Given the description of an element on the screen output the (x, y) to click on. 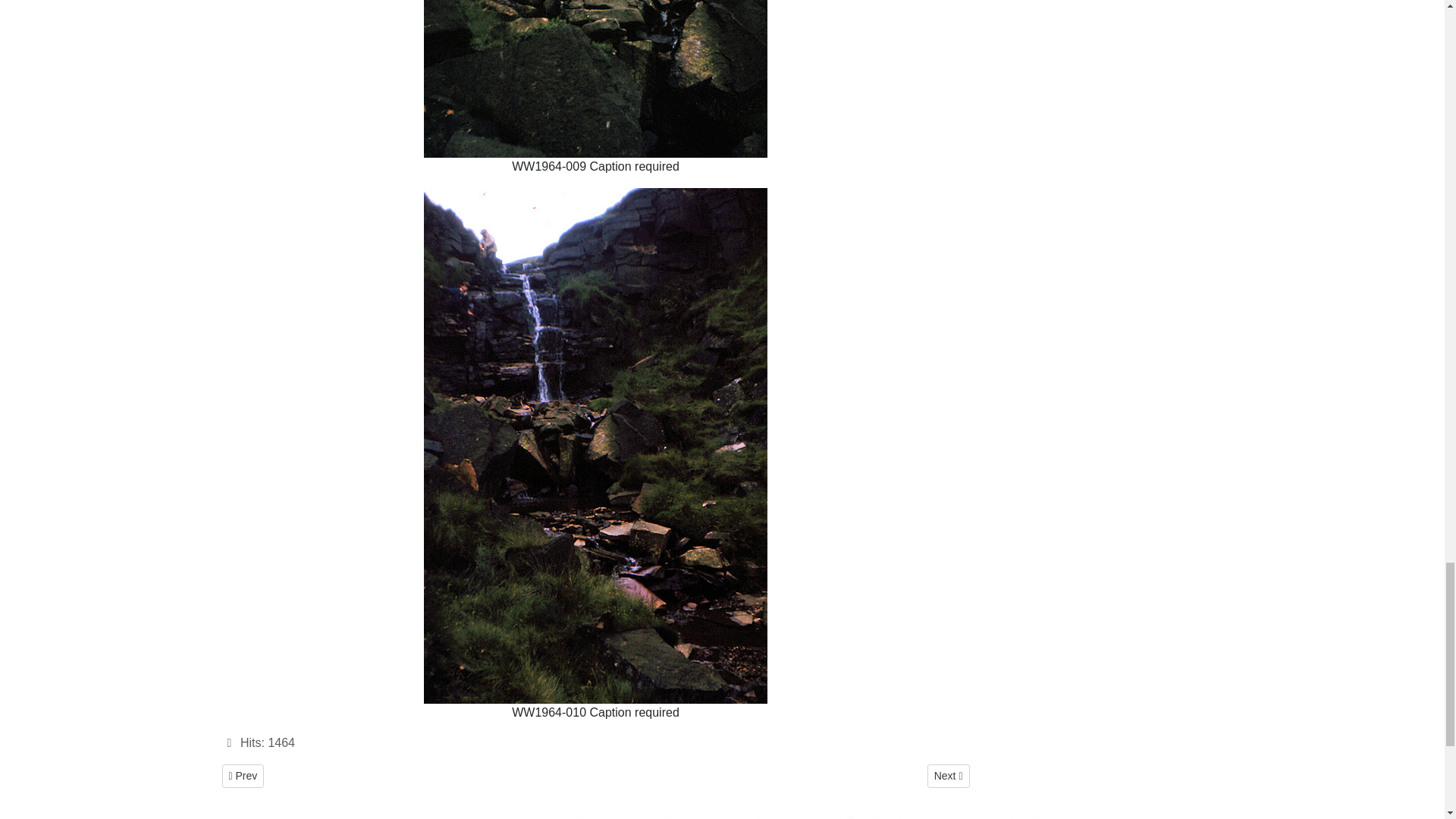
WW1964-009 Caption required (595, 79)
